Given the description of an element on the screen output the (x, y) to click on. 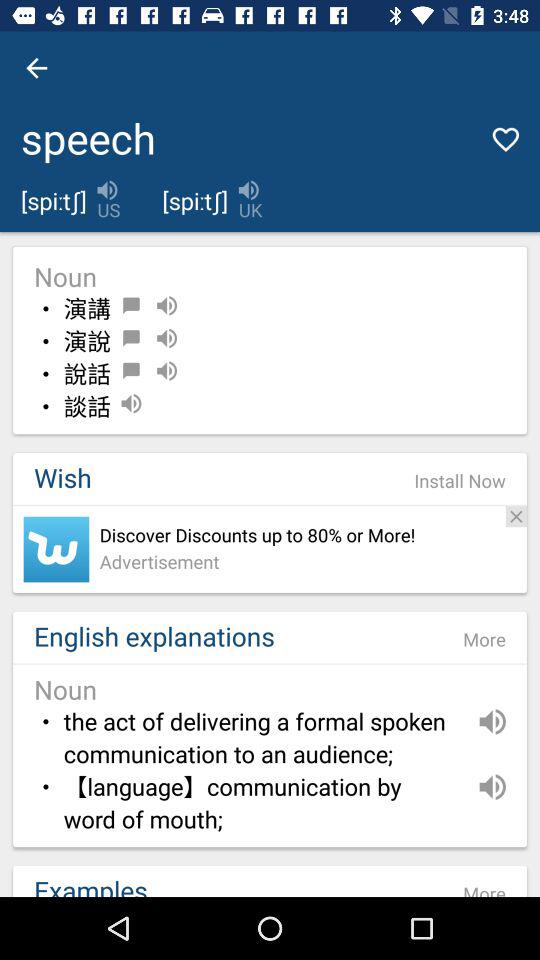
discover discount (56, 549)
